Given the description of an element on the screen output the (x, y) to click on. 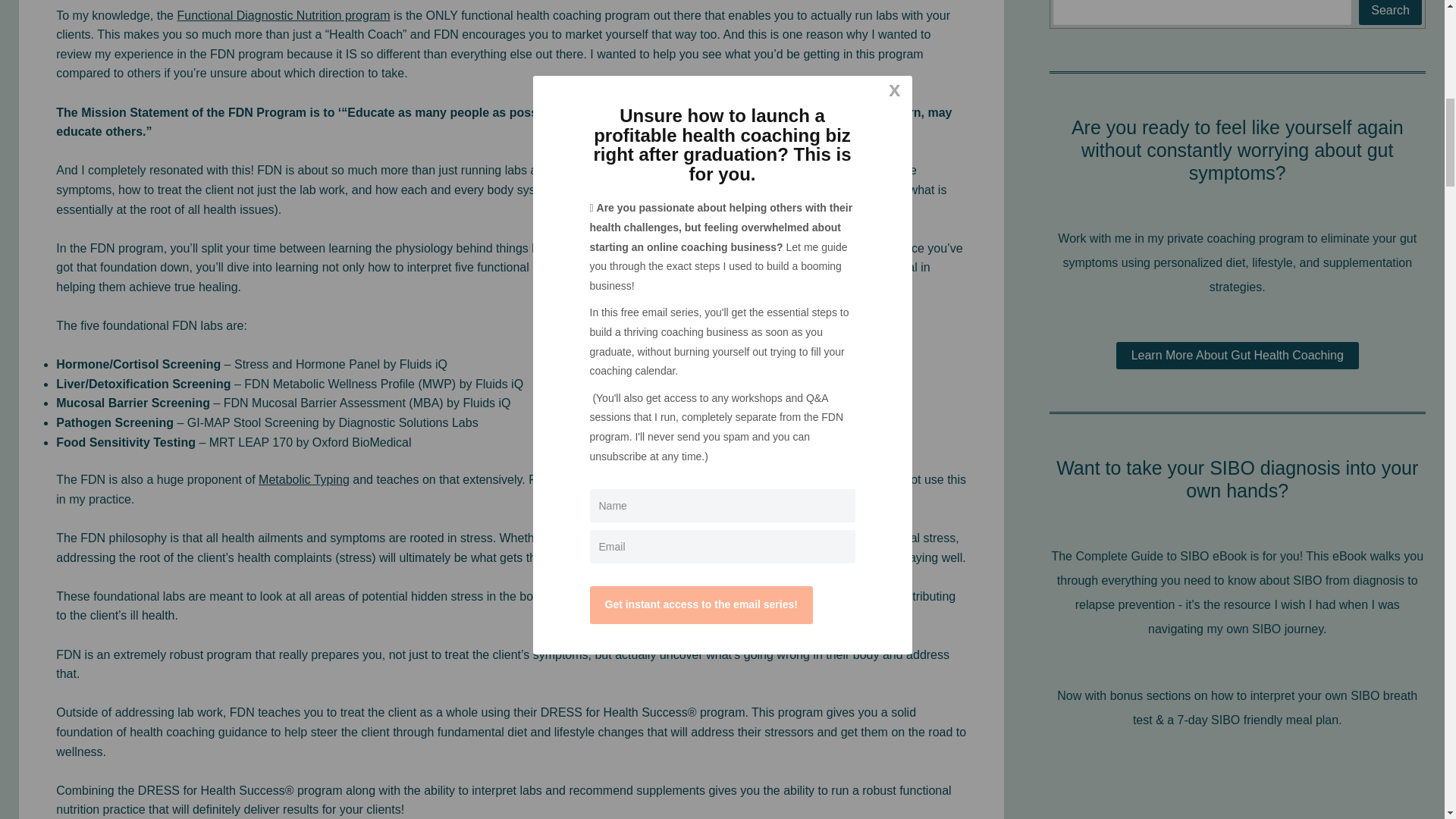
Metabolic Typing (304, 479)
Functional Diagnostic Nutrition program (283, 15)
